Given the description of an element on the screen output the (x, y) to click on. 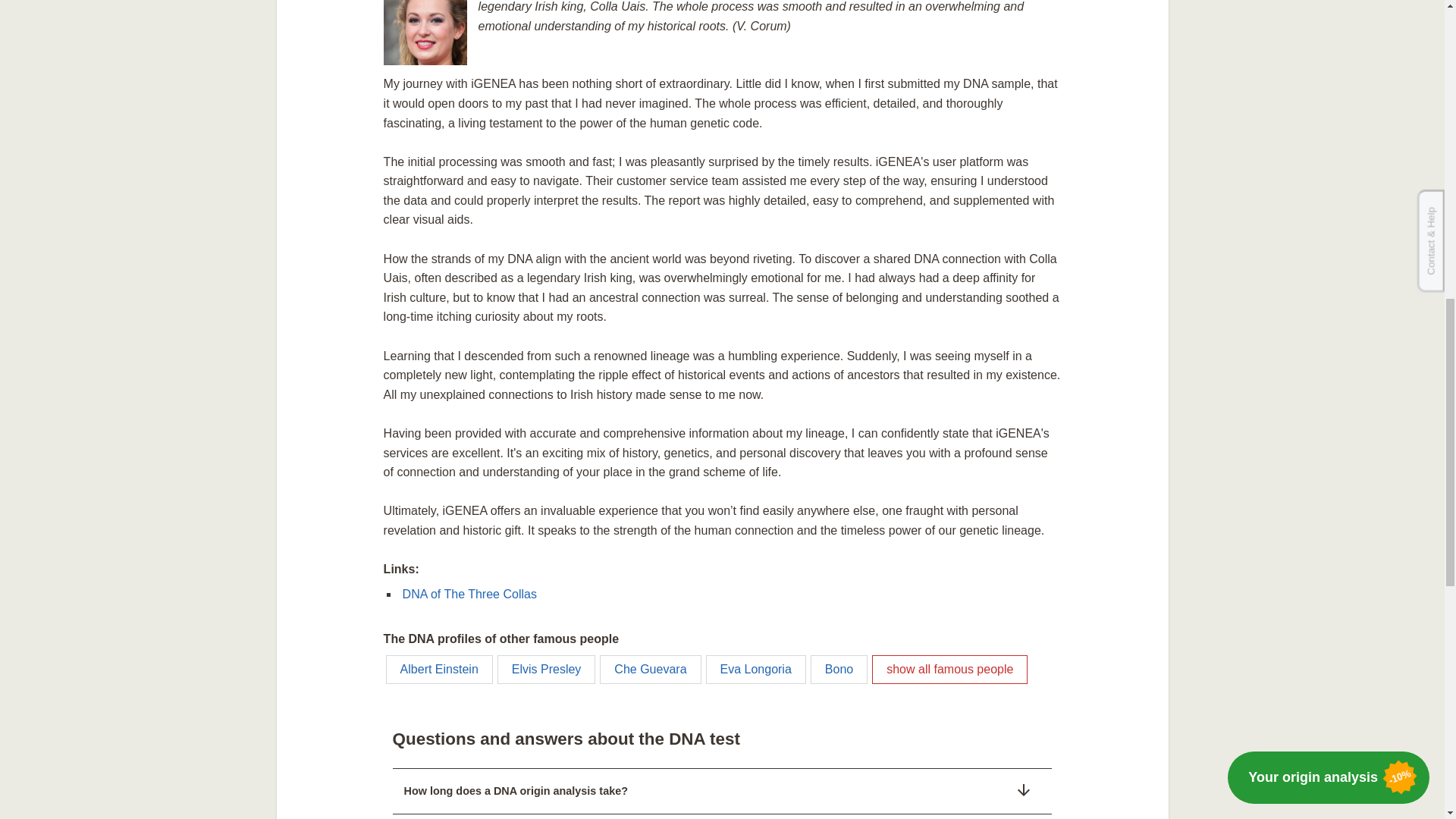
The DNA profile of Che Guevara (649, 669)
The DNA profile of Elvis Presley (546, 669)
The DNA profile of Bono (838, 669)
Albert Einstein (439, 669)
The DNA profile of Eva Longoria (756, 669)
show all famous people (949, 669)
Che Guevara (649, 669)
Bono (838, 669)
The DNA profiles of other famous people (949, 669)
DNA of The Three Collas (470, 594)
The DNA profile of Albert Einstein (439, 669)
Elvis Presley (546, 669)
DNA of The Three Collas (470, 594)
Eva Longoria (756, 669)
